Given the description of an element on the screen output the (x, y) to click on. 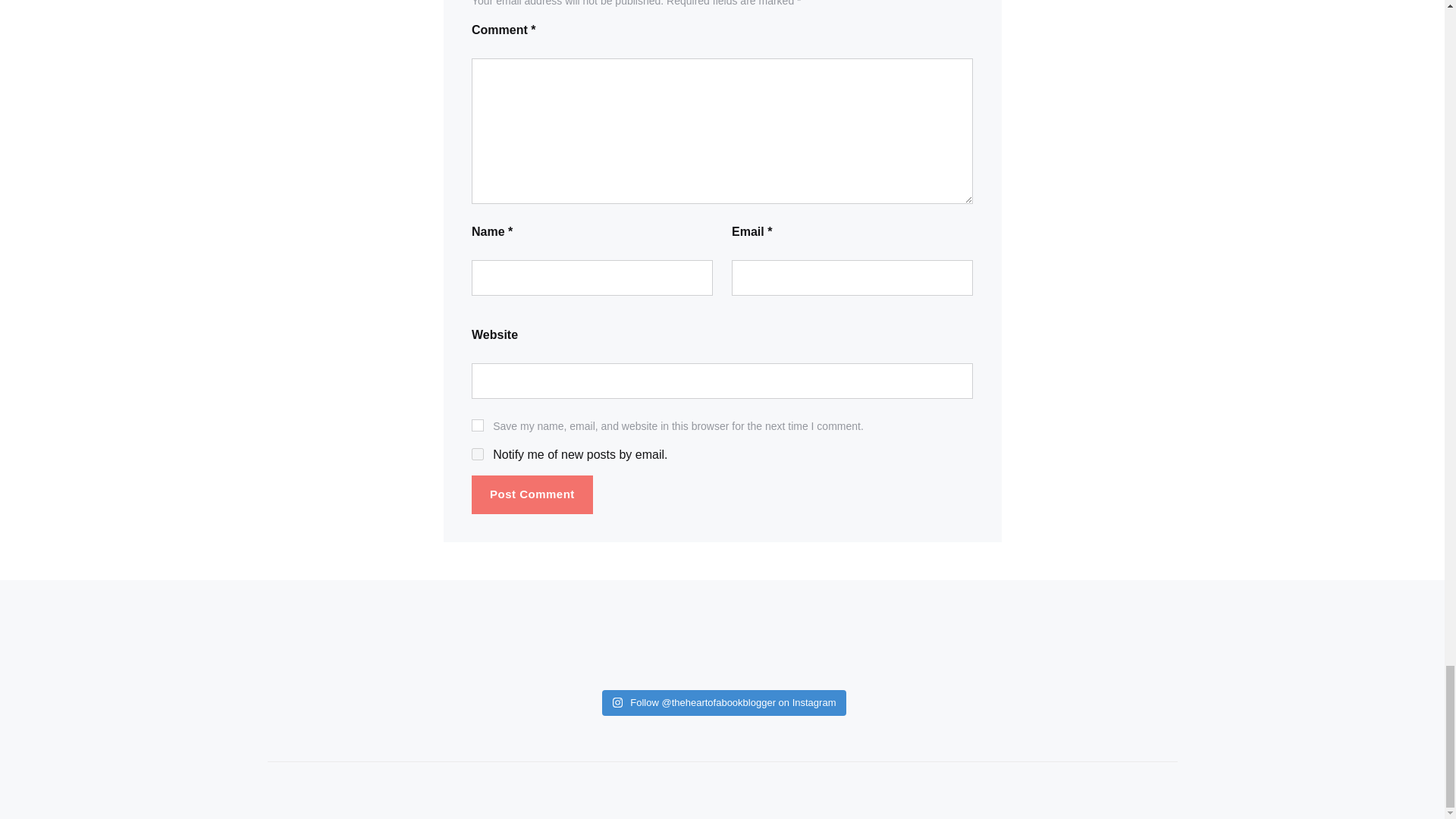
subscribe (477, 453)
yes (477, 425)
Post Comment (531, 494)
